Given the description of an element on the screen output the (x, y) to click on. 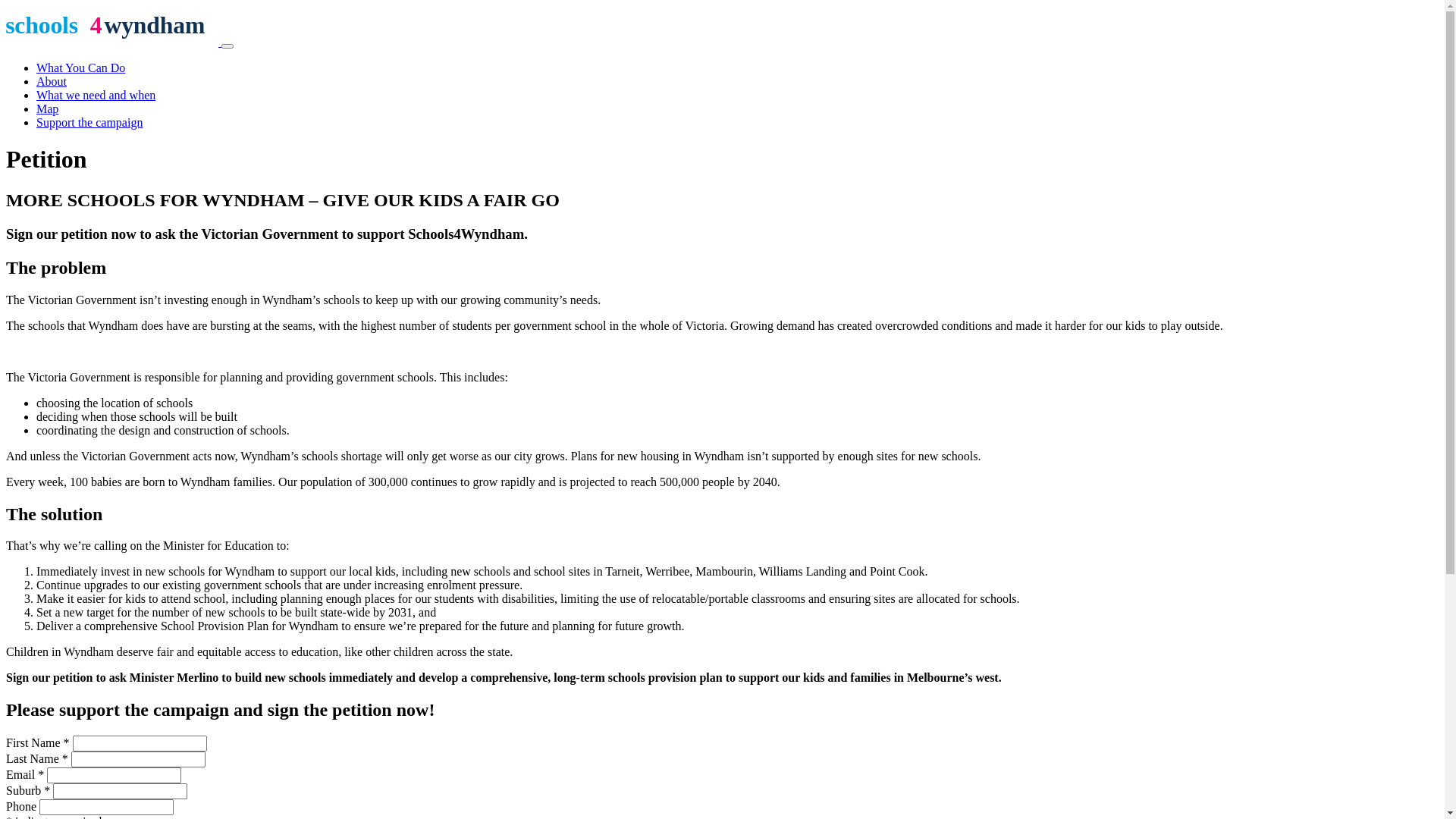
What we need and when Element type: text (95, 94)
Toggle menu Element type: text (227, 45)
About Element type: text (51, 81)
Map Element type: text (47, 108)
What You Can Do Element type: text (80, 67)
Schools 4 Wyndham
schools 4 wyndham Element type: text (113, 41)
Support the campaign Element type: text (89, 122)
Skip to main content Element type: text (6, 6)
